Given the description of an element on the screen output the (x, y) to click on. 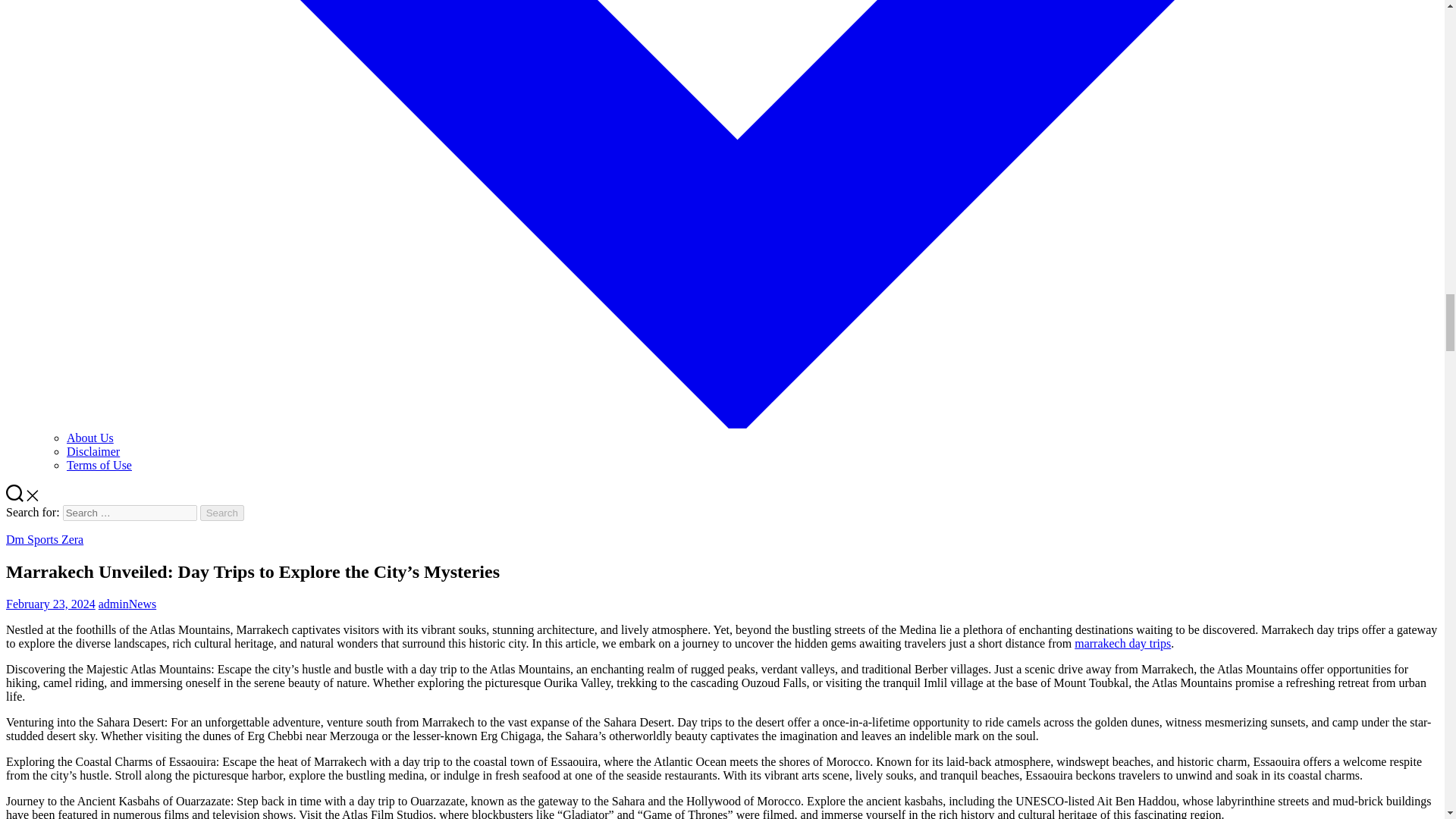
marrakech day trips (1122, 643)
Search (222, 512)
News (142, 603)
Disclaimer (92, 451)
Dm Sports Zera (43, 539)
February 23, 2024 (50, 603)
About Us (89, 437)
Search (222, 512)
Terms of Use (99, 464)
Search (222, 512)
admin (114, 603)
